Given the description of an element on the screen output the (x, y) to click on. 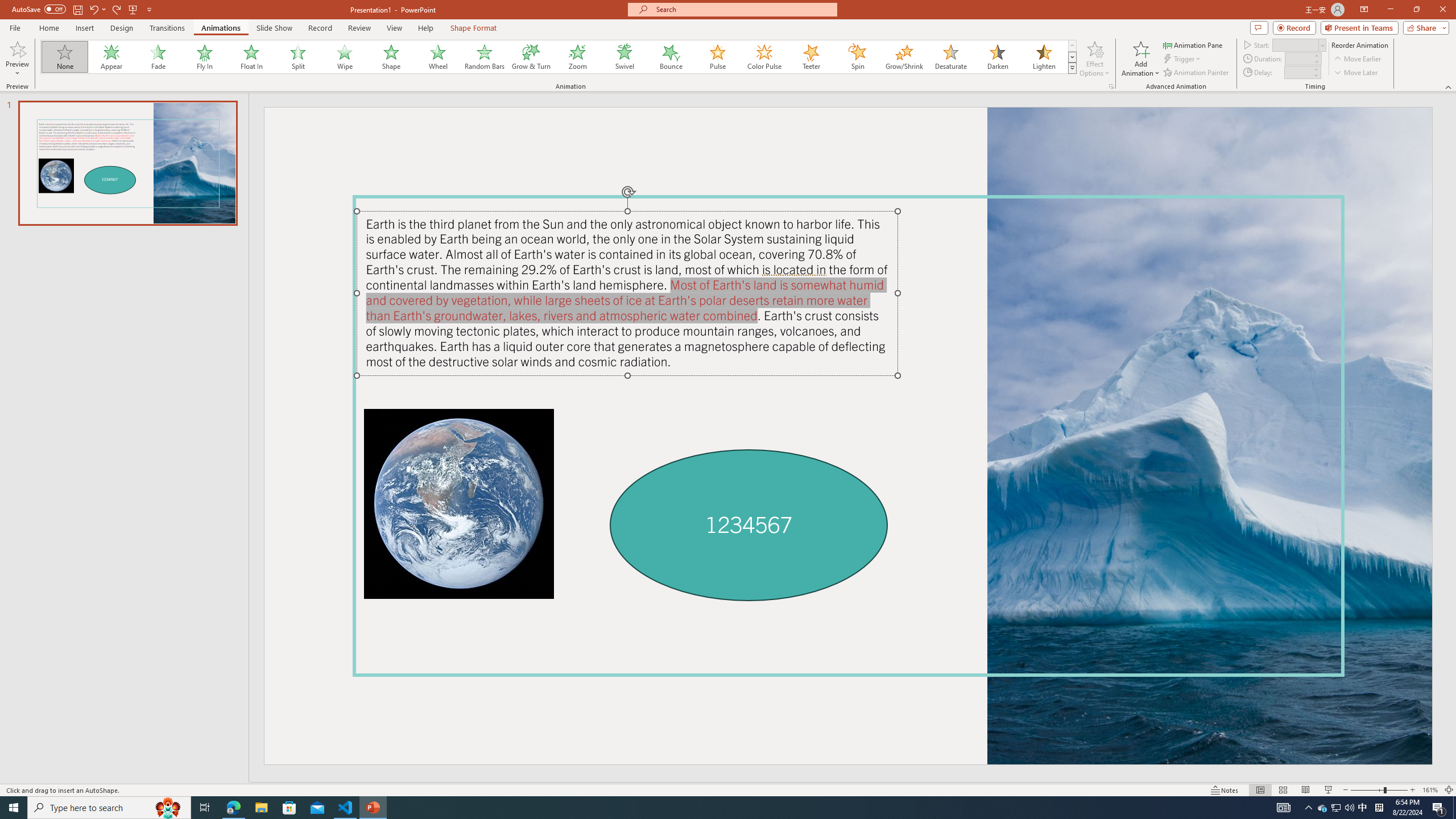
File Tab (15, 27)
Microsoft search (742, 9)
Bounce (670, 56)
Class: MsoCommandBar (728, 789)
Restore Down (1416, 9)
Wipe (344, 56)
Review (359, 28)
Animations (220, 28)
Pulse (717, 56)
Save (77, 9)
Spin (857, 56)
Insert (83, 28)
